Given the description of an element on the screen output the (x, y) to click on. 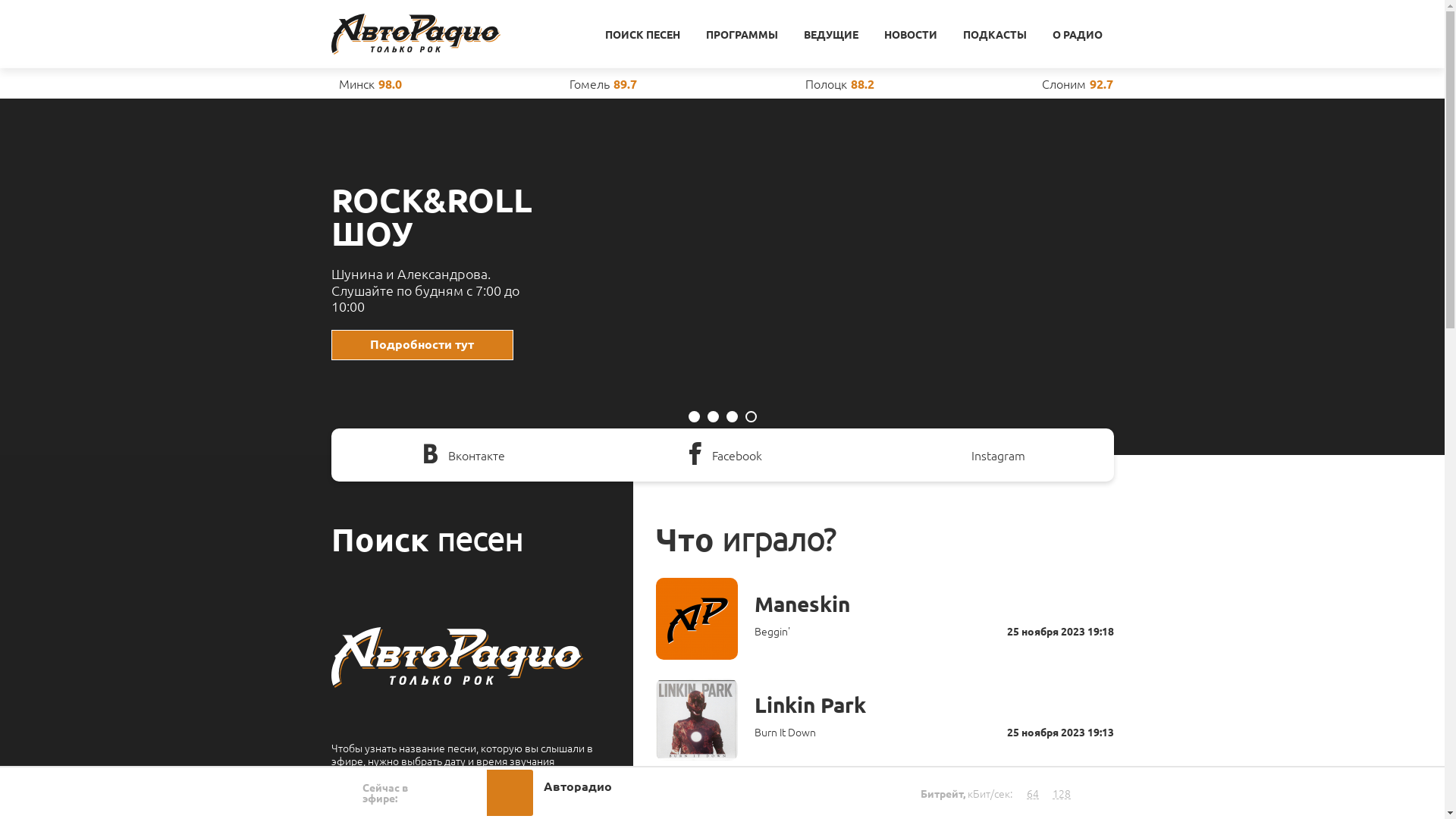
Facebook Element type: text (721, 454)
2 Element type: text (712, 416)
128 Element type: text (1061, 792)
1 Element type: text (693, 416)
64 Element type: text (1032, 792)
Instagram Element type: text (982, 454)
4 Element type: text (750, 416)
3 Element type: text (731, 416)
